Given the description of an element on the screen output the (x, y) to click on. 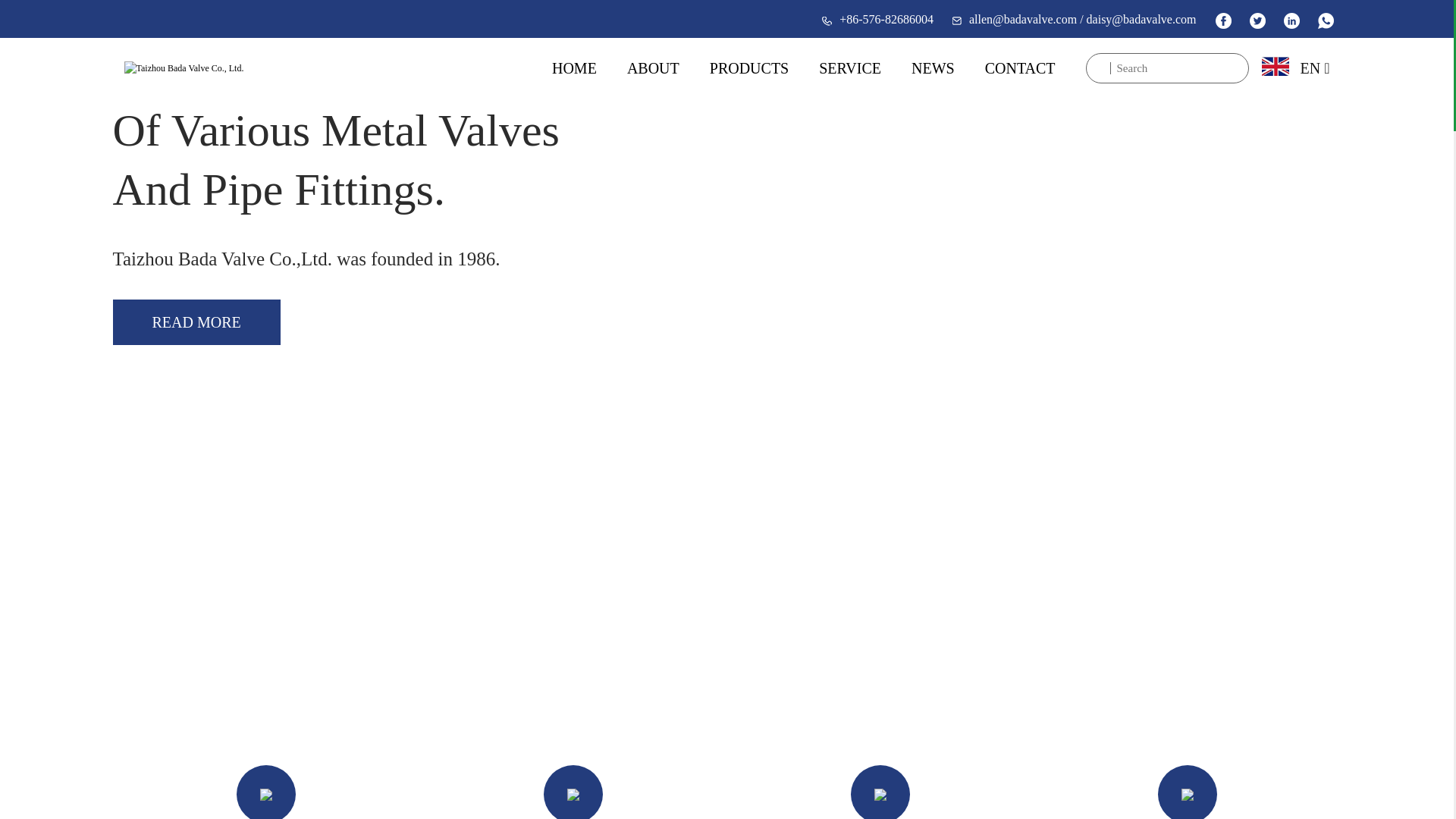
SERVICE (849, 67)
Taizhou Bada Valve Co., Ltd. (183, 68)
PRODUCTS (749, 67)
CONTACT (1020, 67)
